Given the description of an element on the screen output the (x, y) to click on. 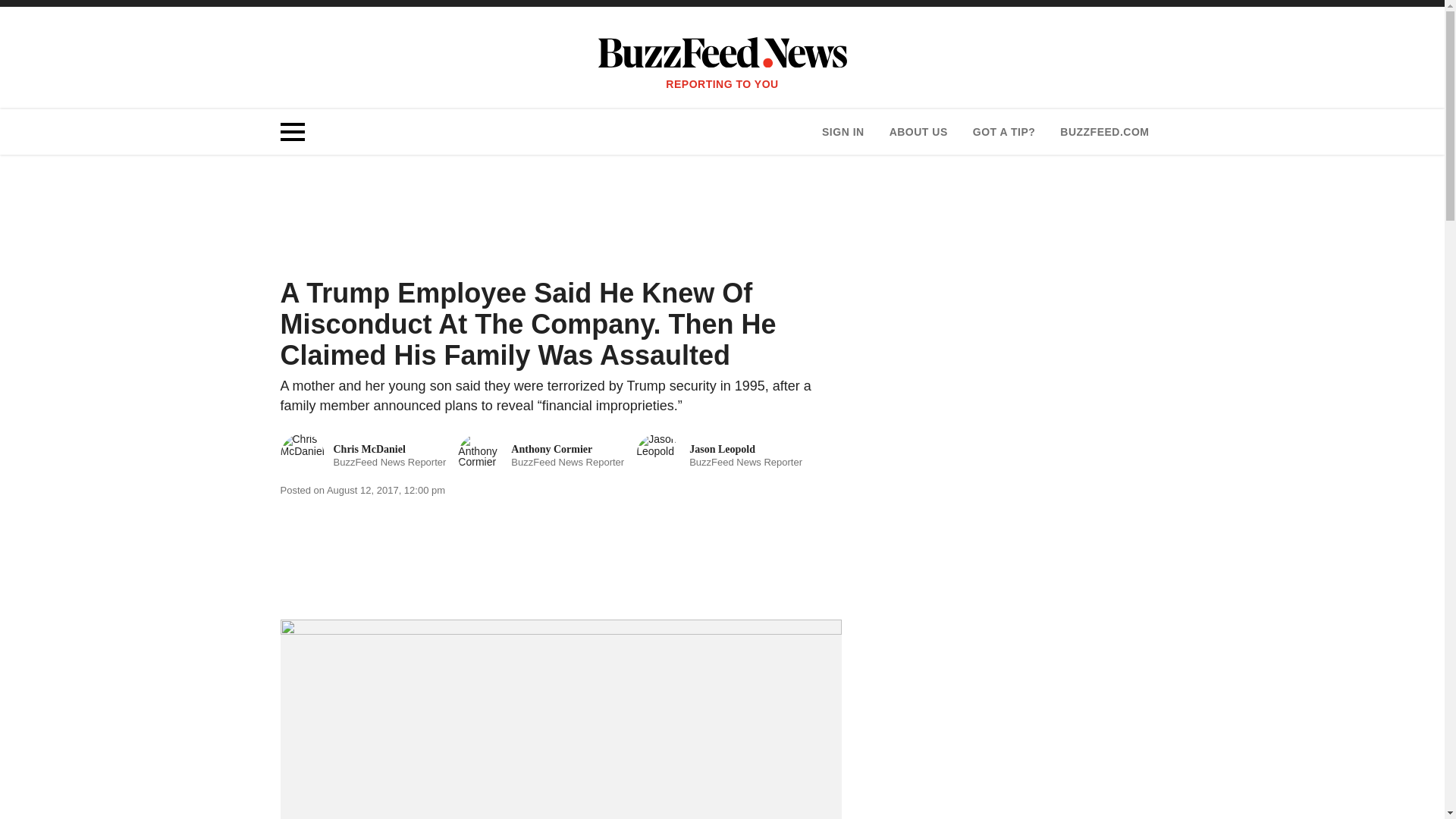
BUZZFEED.COM (1103, 131)
GOT A TIP? (1003, 131)
SIGN IN (541, 455)
ABOUT US (842, 131)
